Given the description of an element on the screen output the (x, y) to click on. 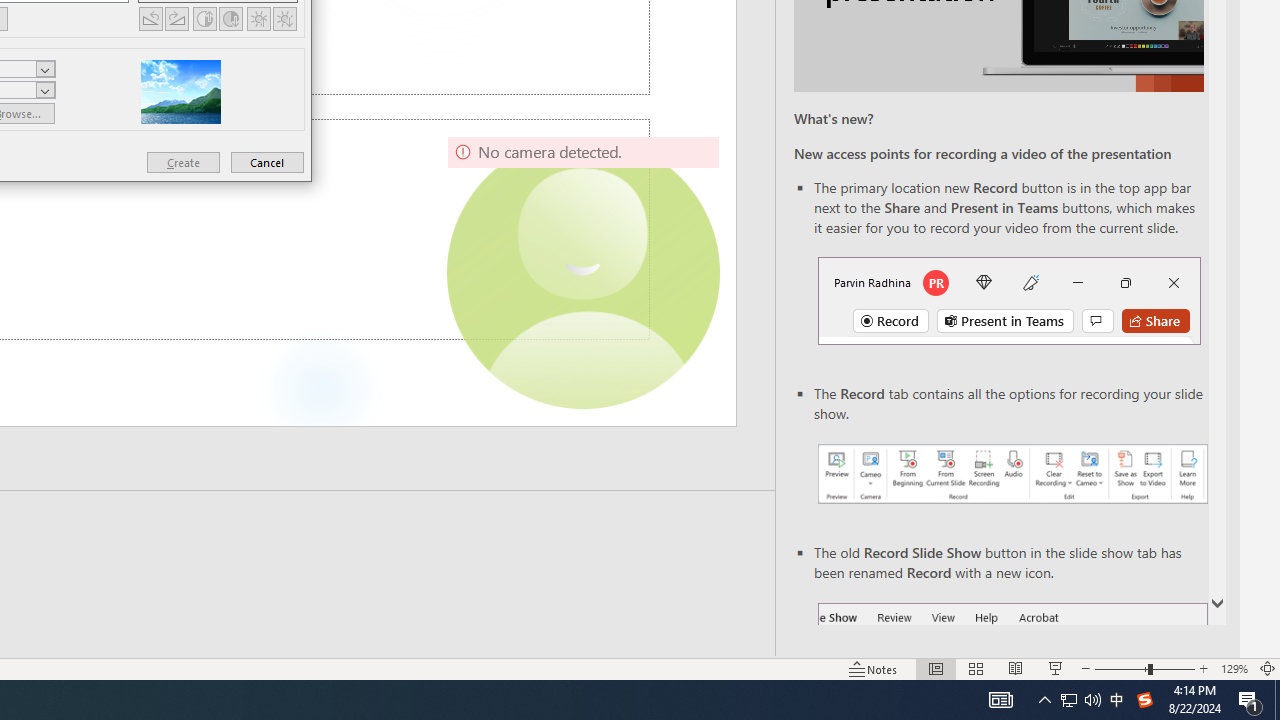
Tray Input Indicator - Chinese (Simplified, China) (1144, 699)
Less Contrast (230, 18)
AutomationID: 4105 (1000, 699)
User Promoted Notification Area (1080, 699)
More Contrast (204, 18)
Action Center, 1 new notification (1250, 699)
